Given the description of an element on the screen output the (x, y) to click on. 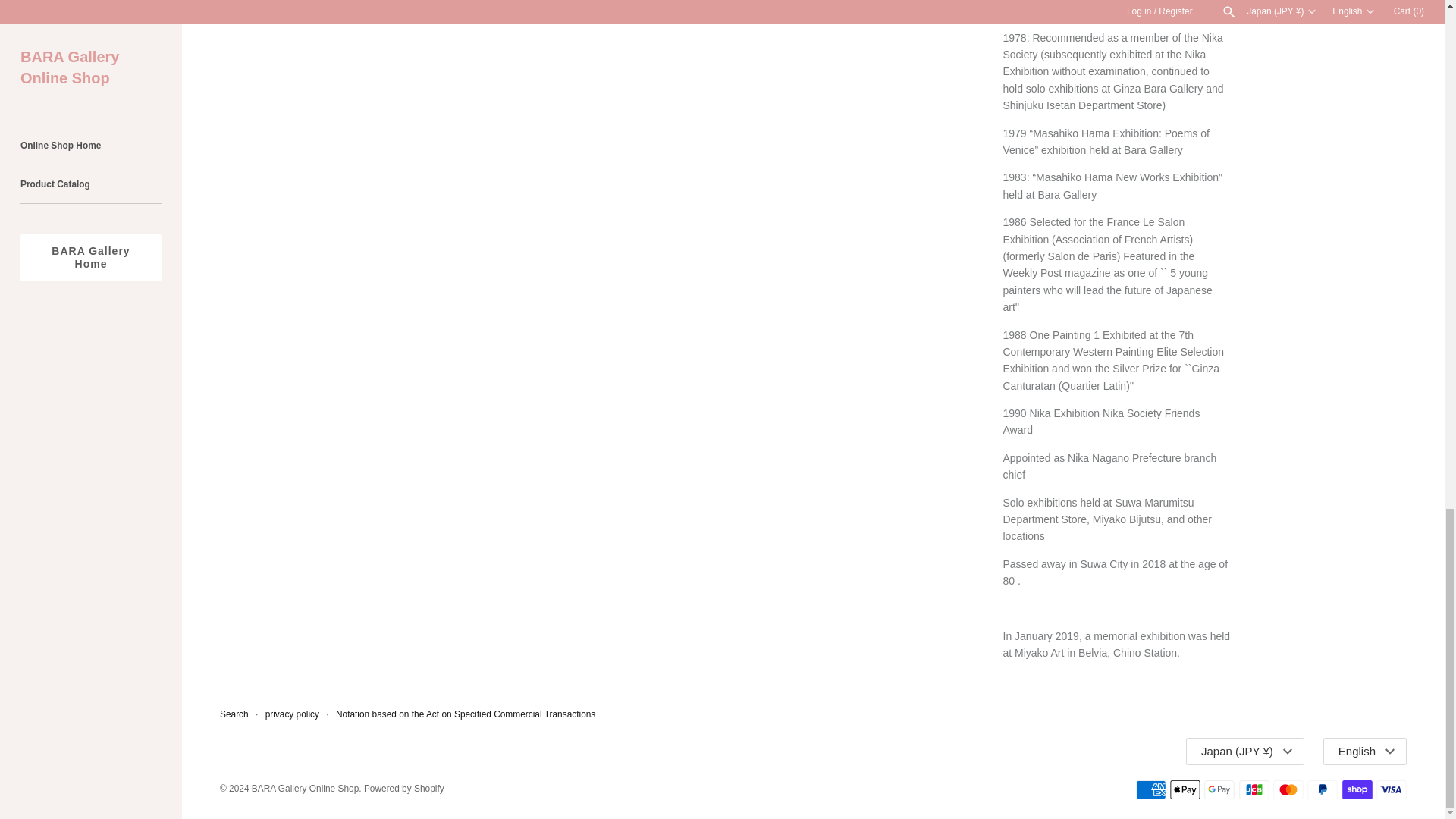
JCB (1254, 789)
PayPal (1322, 789)
Visa (1390, 789)
Apple Pay (1184, 789)
Google Pay (1219, 789)
Mastercard (1287, 789)
Shop Pay (1357, 789)
American Express (1150, 789)
